Given the description of an element on the screen output the (x, y) to click on. 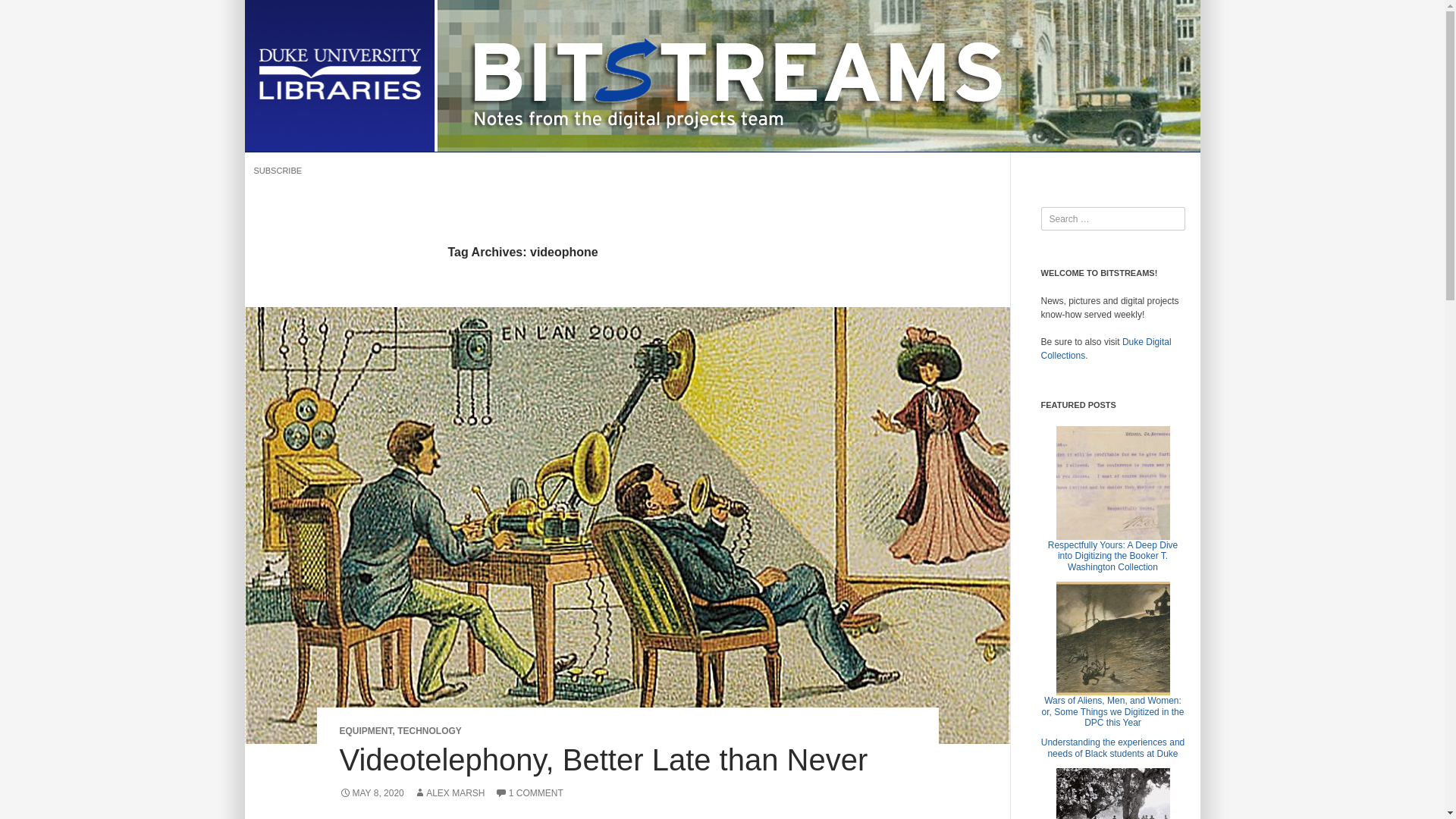
Duke University Libraries (338, 74)
Search (27, 11)
SUBSCRIBE (277, 170)
TECHNOLOGY (429, 730)
Videotelephony, Better Late than Never (603, 759)
ALEX MARSH (448, 792)
Duke Digital Collections (1105, 348)
MAY 8, 2020 (371, 792)
1 COMMENT (529, 792)
EQUIPMENT (366, 730)
